Given the description of an element on the screen output the (x, y) to click on. 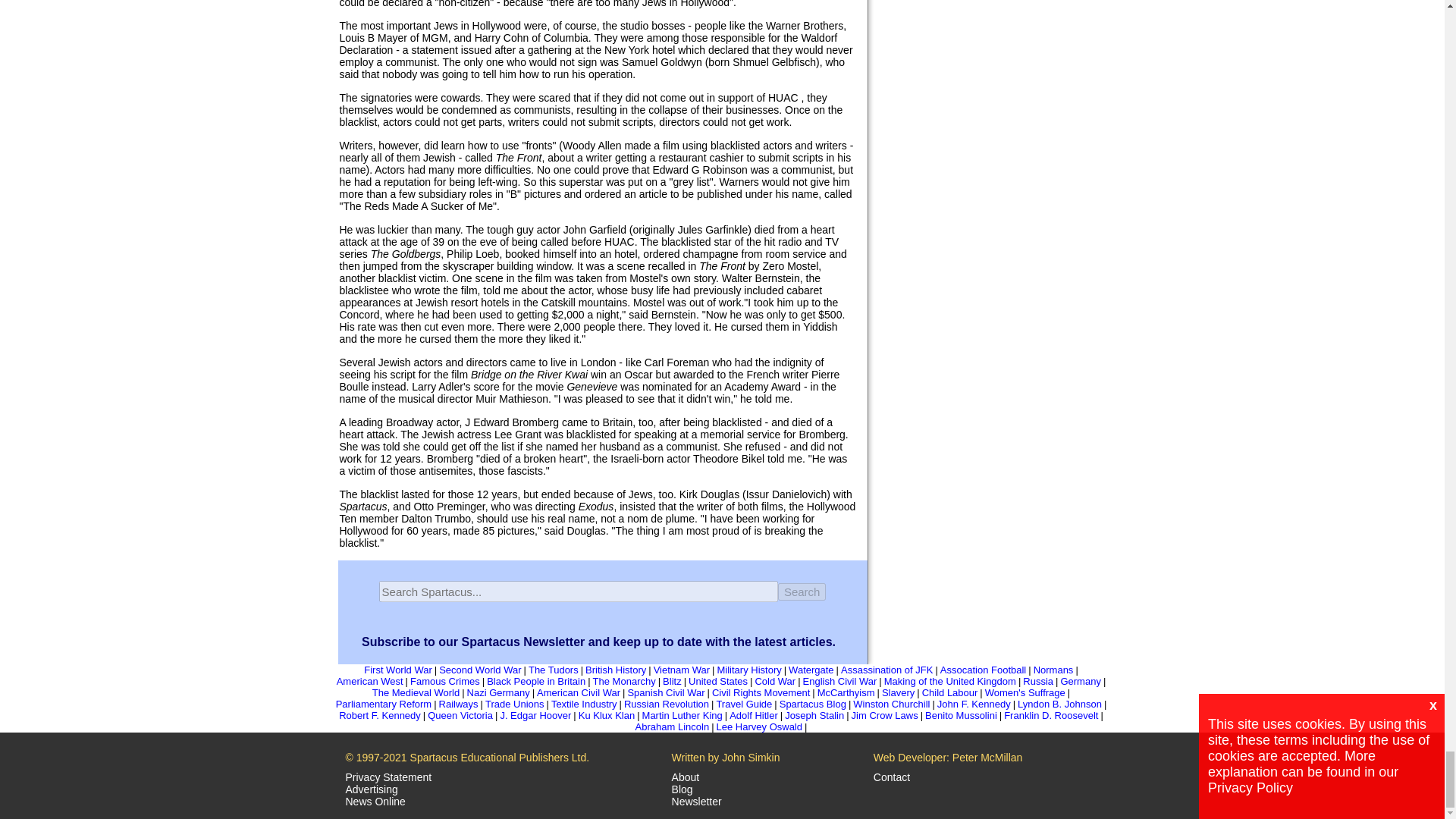
Search (802, 590)
